Given the description of an element on the screen output the (x, y) to click on. 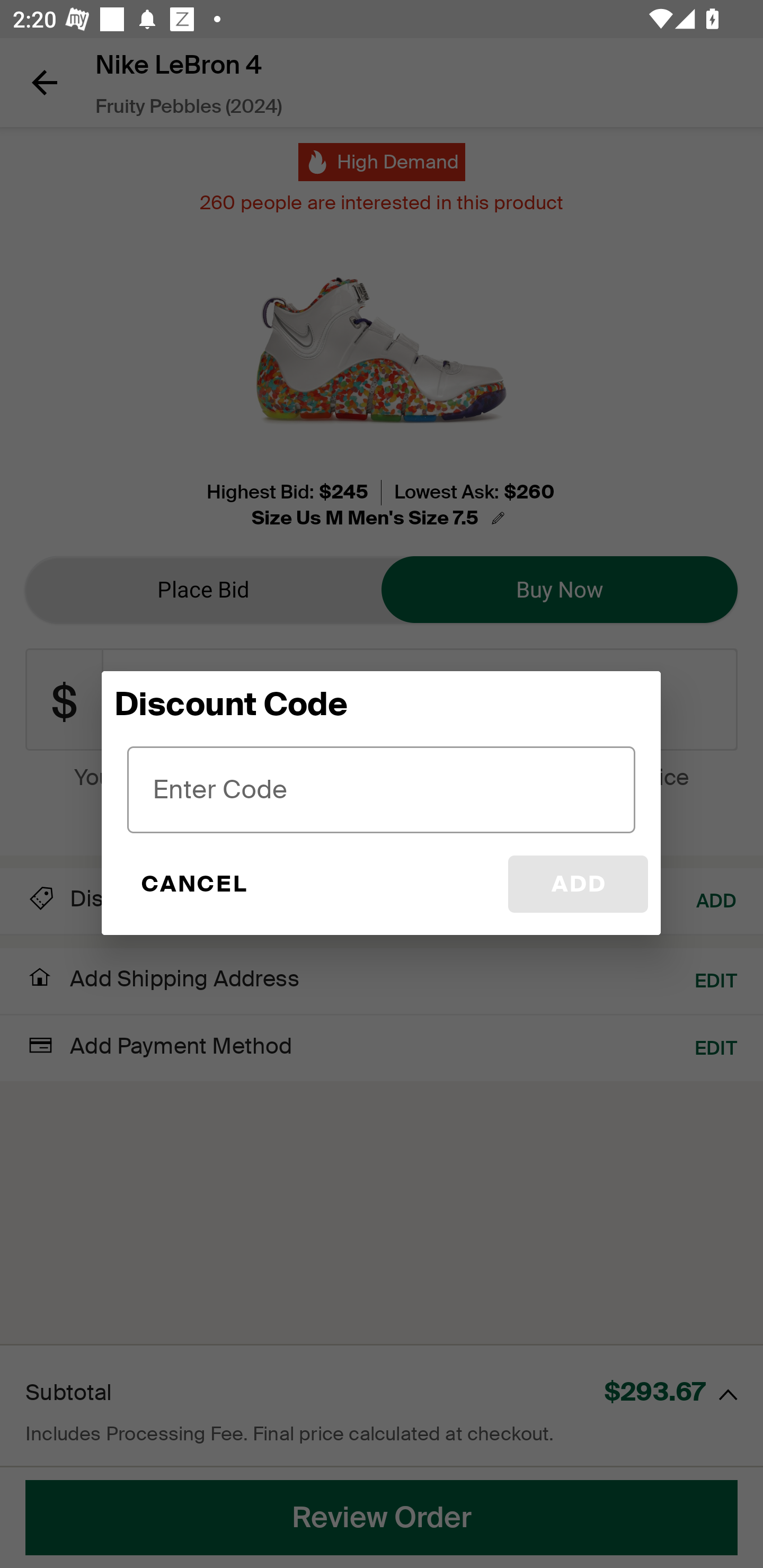
Enter Code (381, 789)
CANCEL (193, 883)
ADD (577, 883)
